Given the description of an element on the screen output the (x, y) to click on. 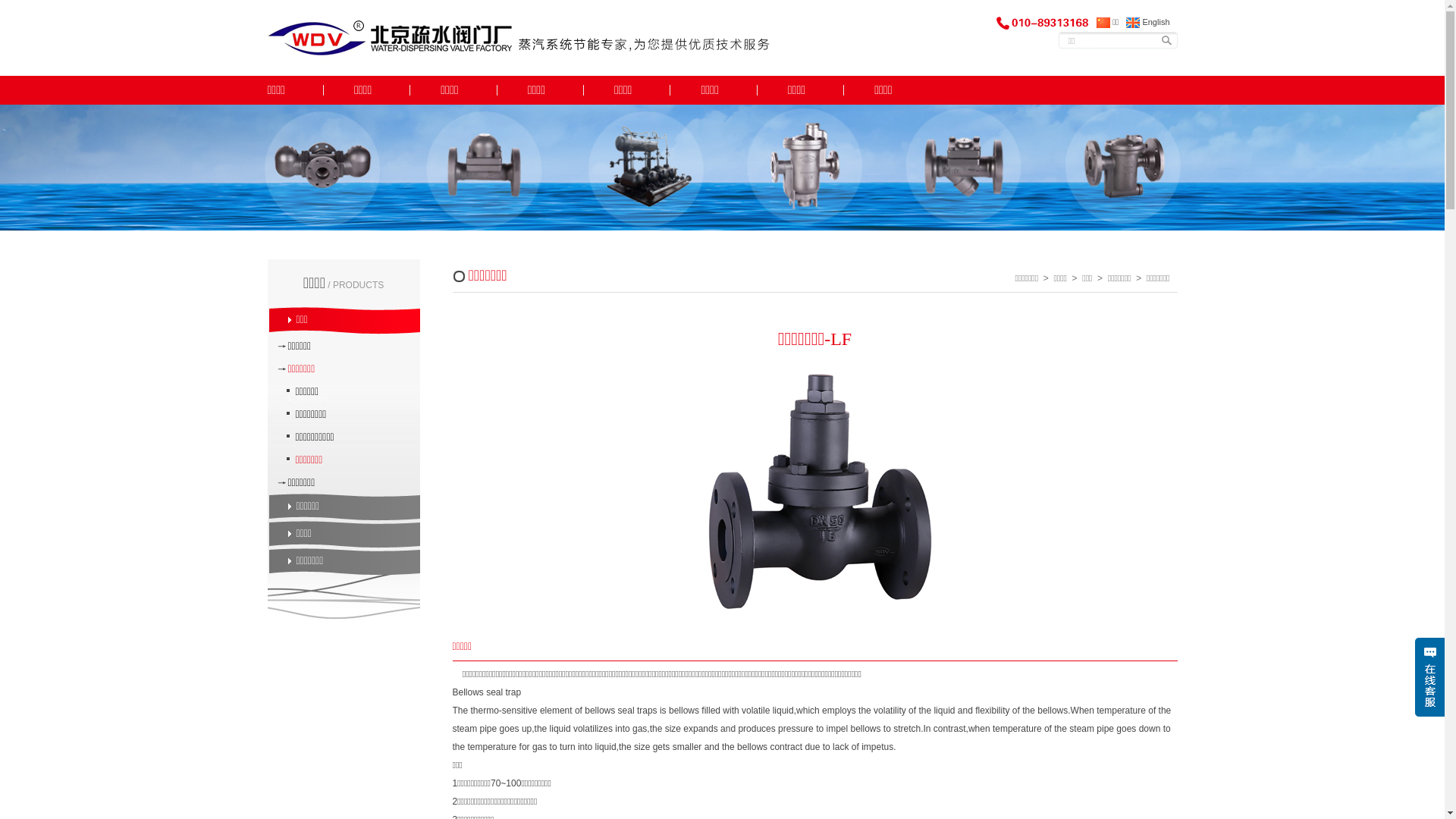
English Element type: text (1147, 21)
